Given the description of an element on the screen output the (x, y) to click on. 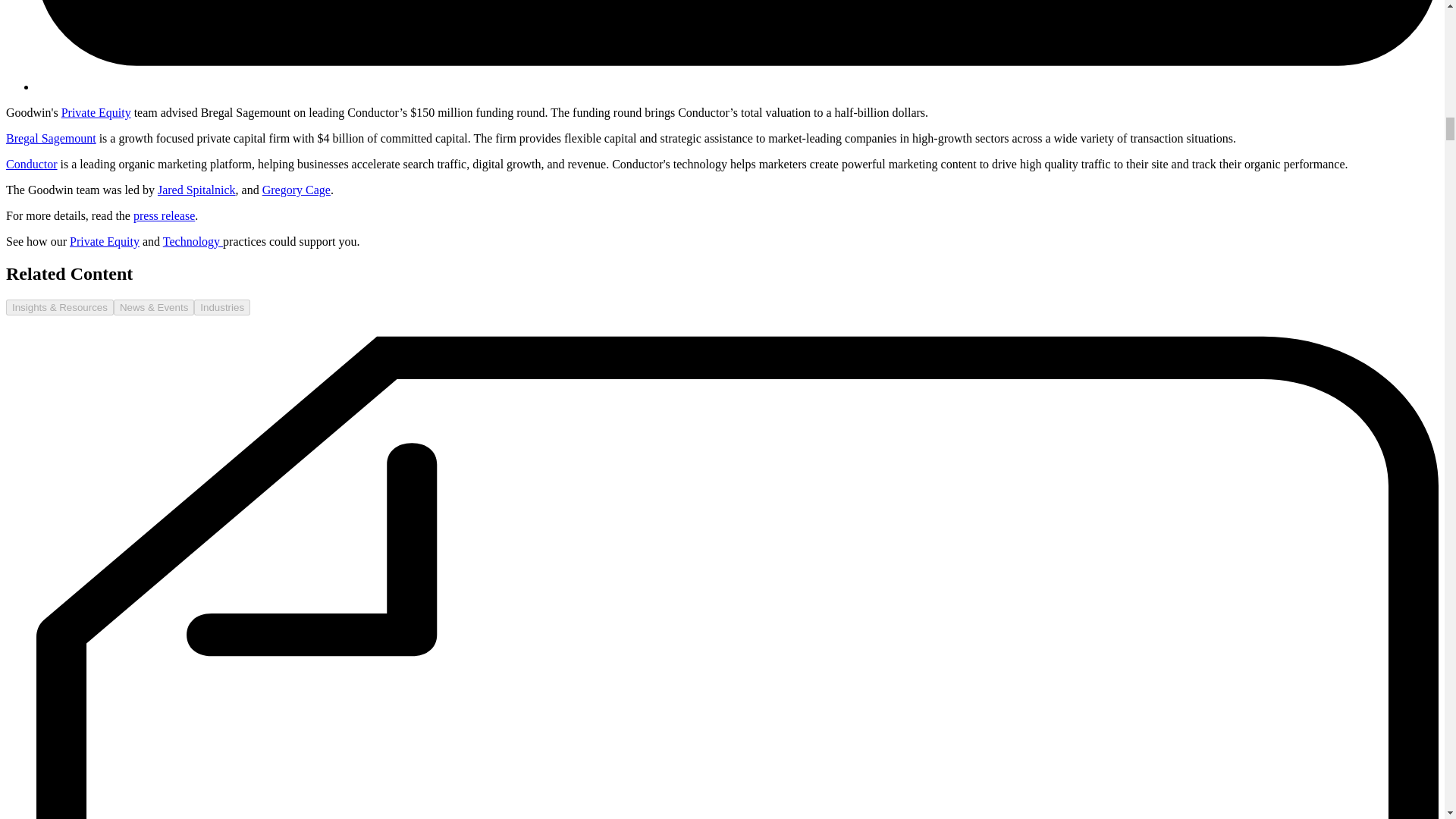
Private Equity (96, 112)
press release (164, 215)
Gregory Cage (296, 189)
Jared Spitalnick (196, 189)
Private Equity (104, 241)
Conductor (31, 164)
Bregal Sagemount (50, 137)
Technology (192, 241)
